Given the description of an element on the screen output the (x, y) to click on. 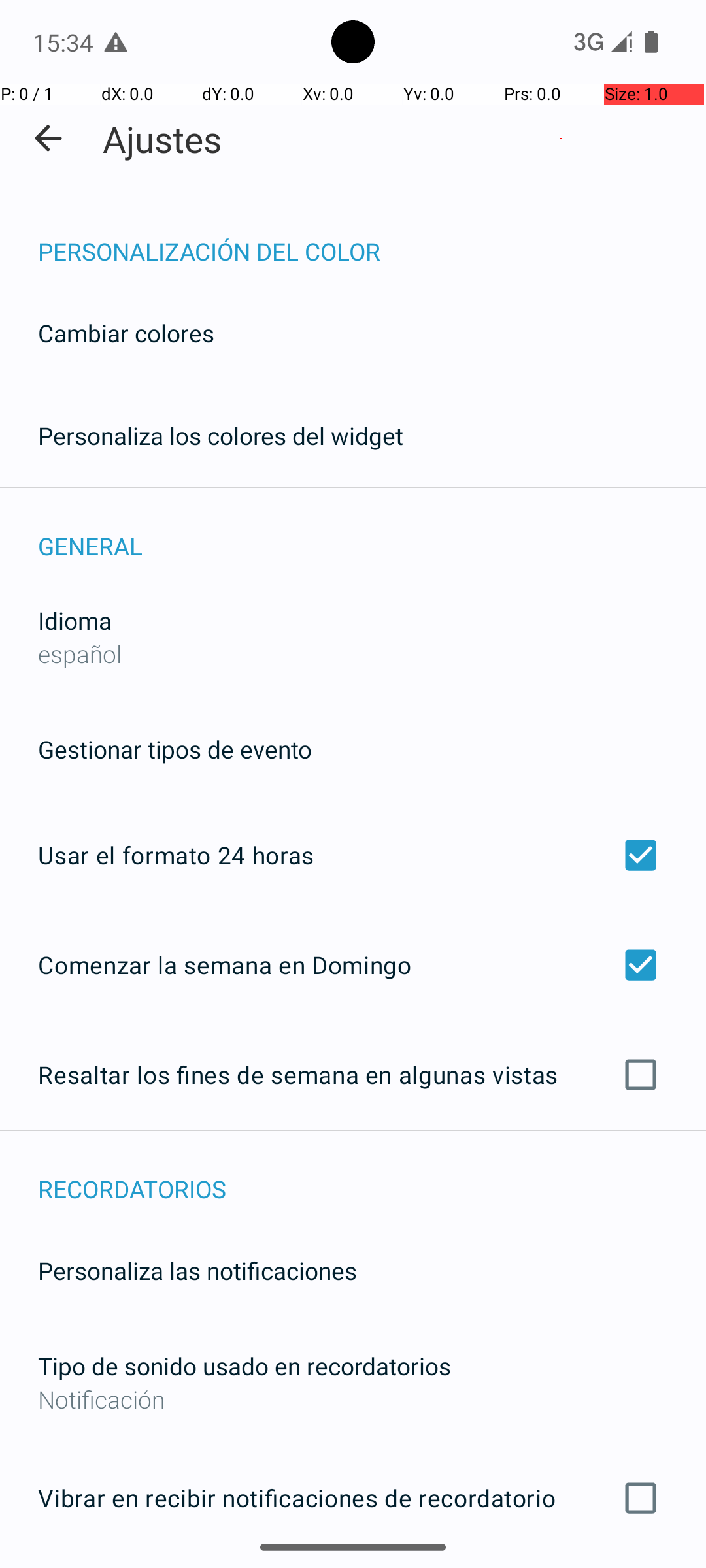
Ajustes Element type: android.widget.TextView (161, 138)
PERSONALIZACIÓN DEL COLOR Element type: android.widget.TextView (371, 237)
GENERAL Element type: android.widget.TextView (371, 532)
RECORDATORIOS Element type: android.widget.TextView (371, 1174)
Cambiar colores Element type: android.widget.TextView (125, 332)
Personaliza los colores del widget Element type: android.widget.TextView (220, 435)
Idioma Element type: android.widget.TextView (74, 620)
español Element type: android.widget.TextView (79, 653)
Gestionar tipos de evento Element type: android.widget.TextView (174, 748)
Usar el formato 24 horas Element type: android.widget.CheckBox (352, 855)
Comenzar la semana en Domingo Element type: android.widget.CheckBox (352, 964)
Resaltar los fines de semana en algunas vistas Element type: android.widget.CheckBox (352, 1074)
Personaliza las notificaciones Element type: android.widget.TextView (196, 1270)
Tipo de sonido usado en recordatorios Element type: android.widget.TextView (244, 1365)
Notificación Element type: android.widget.TextView (352, 1398)
Vibrar en recibir notificaciones de recordatorio Element type: android.widget.CheckBox (352, 1497)
Repetir recordatorios hasta ser descartados Element type: android.widget.CheckBox (352, 1567)
